Given the description of an element on the screen output the (x, y) to click on. 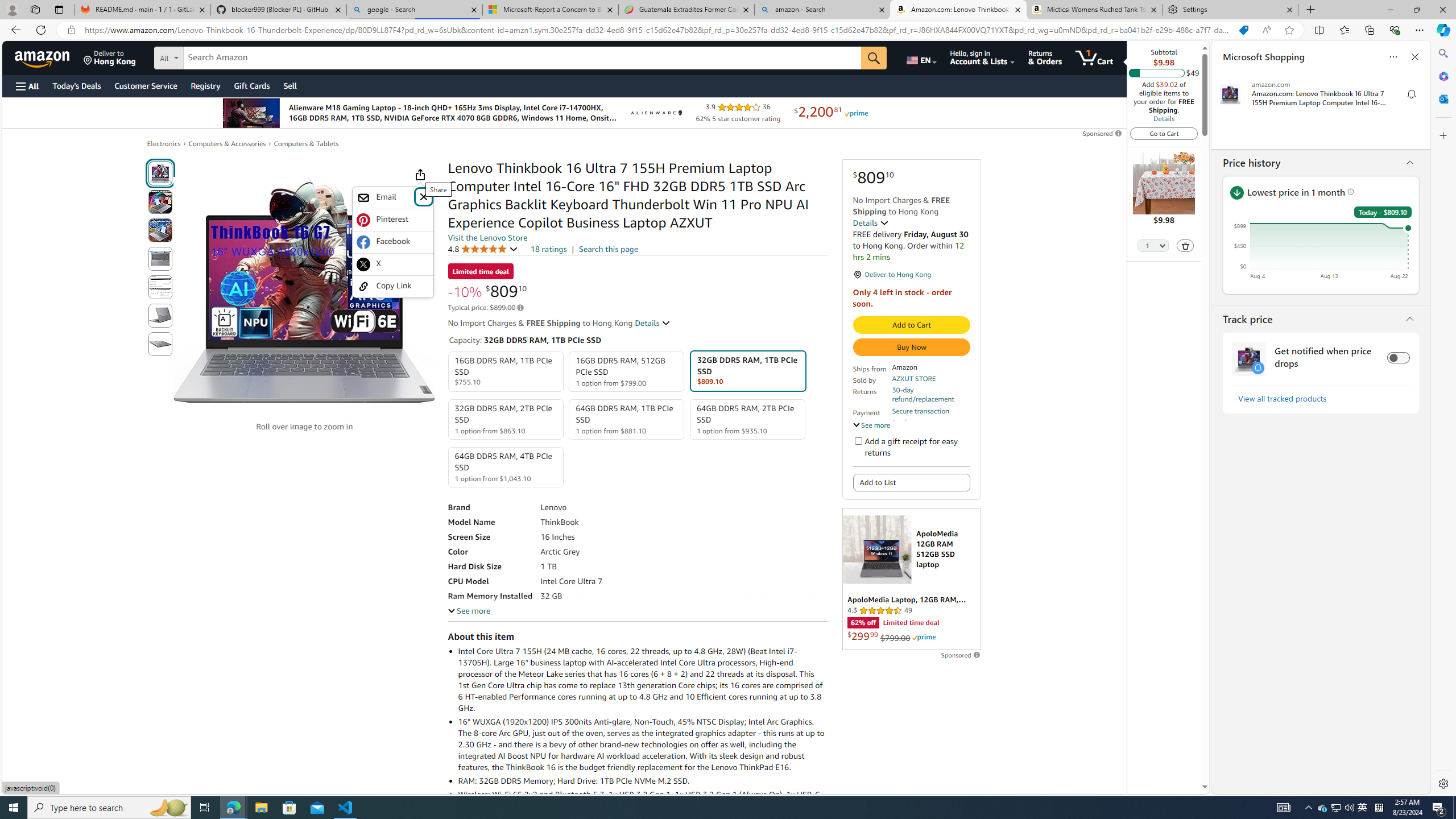
Close Share Popup (423, 196)
X (392, 264)
Add a gift receipt for easy returns (857, 440)
1 item in cart (1094, 57)
Search Amazon (522, 57)
64GB DDR5 RAM, 1TB PCIe SSD 1 option from $881.10 (626, 418)
